Given the description of an element on the screen output the (x, y) to click on. 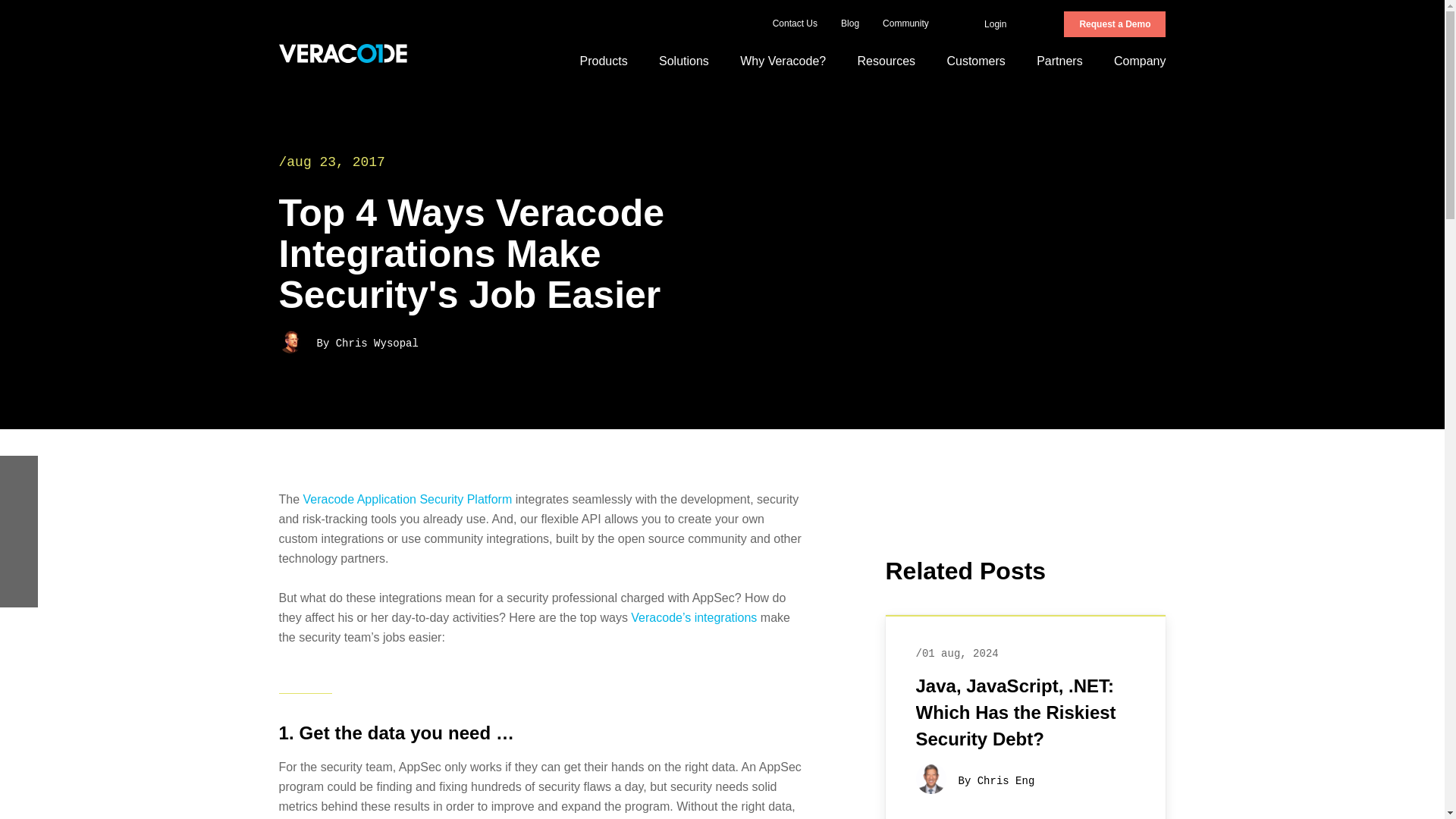
Request a Demo (1115, 23)
Why Veracode? (783, 61)
Products (603, 61)
Solutions (683, 61)
Community (905, 23)
Login (988, 23)
Enter the terms you wish to search for. (1055, 24)
Veracode (343, 53)
Contact Us (794, 23)
